Given the description of an element on the screen output the (x, y) to click on. 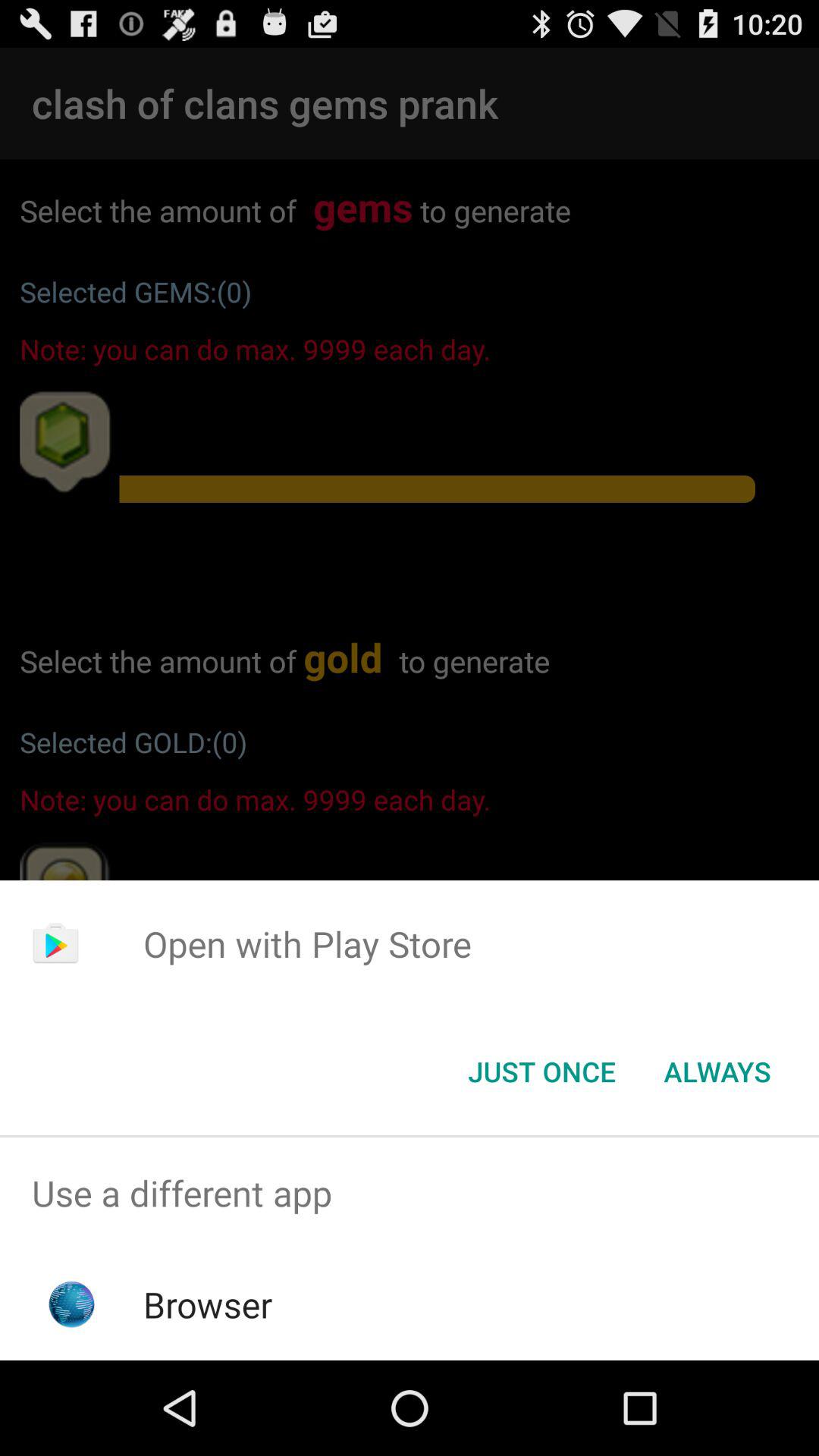
turn off icon next to the always item (541, 1071)
